Given the description of an element on the screen output the (x, y) to click on. 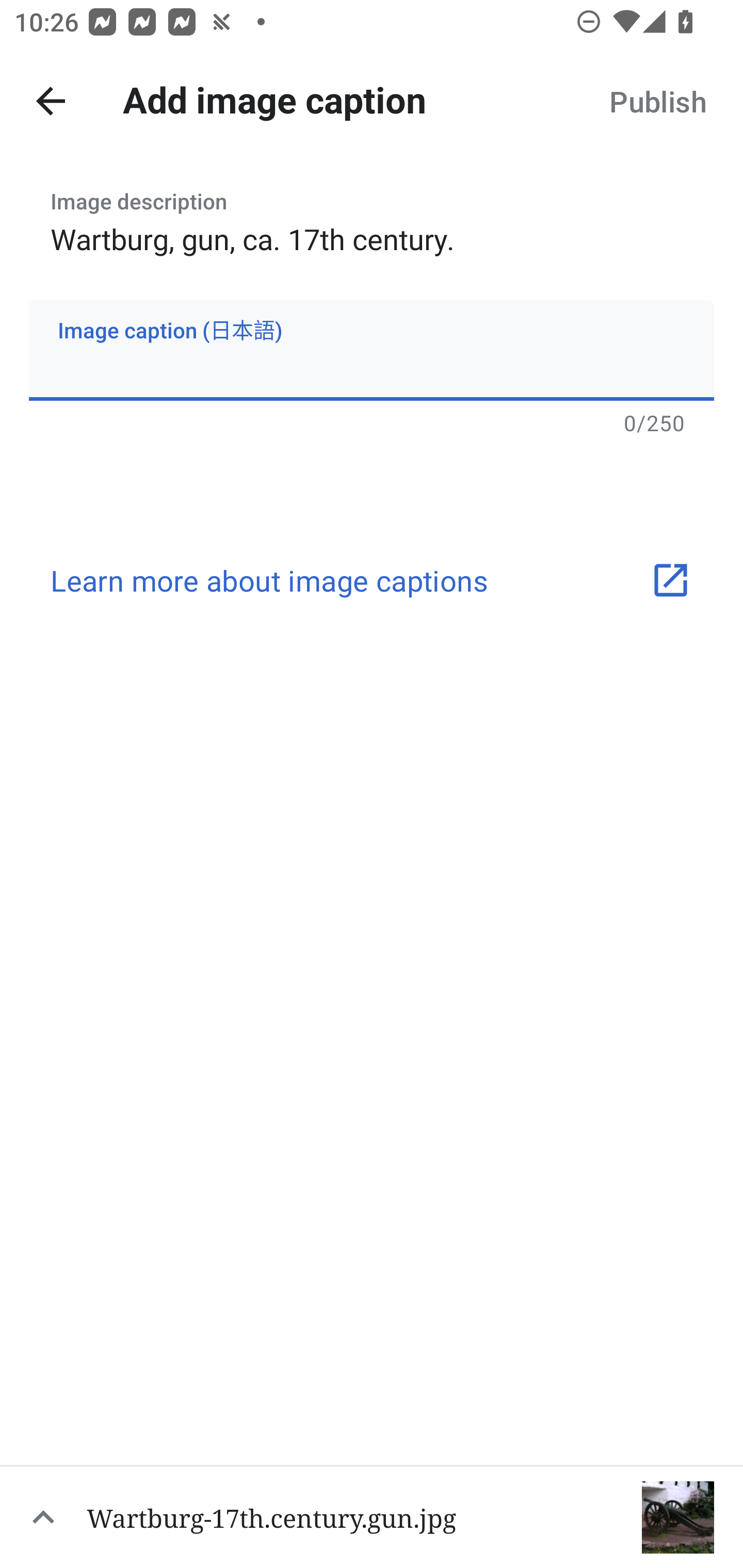
Cancel (50, 101)
Publish (657, 101)
Image description Wartburg, gun, ca. 17th century. (371, 215)
Image caption (日本語) (371, 350)
Learn more about image captions (371, 580)
Wartburg-17th.century.gun.jpg (371, 1516)
